Given the description of an element on the screen output the (x, y) to click on. 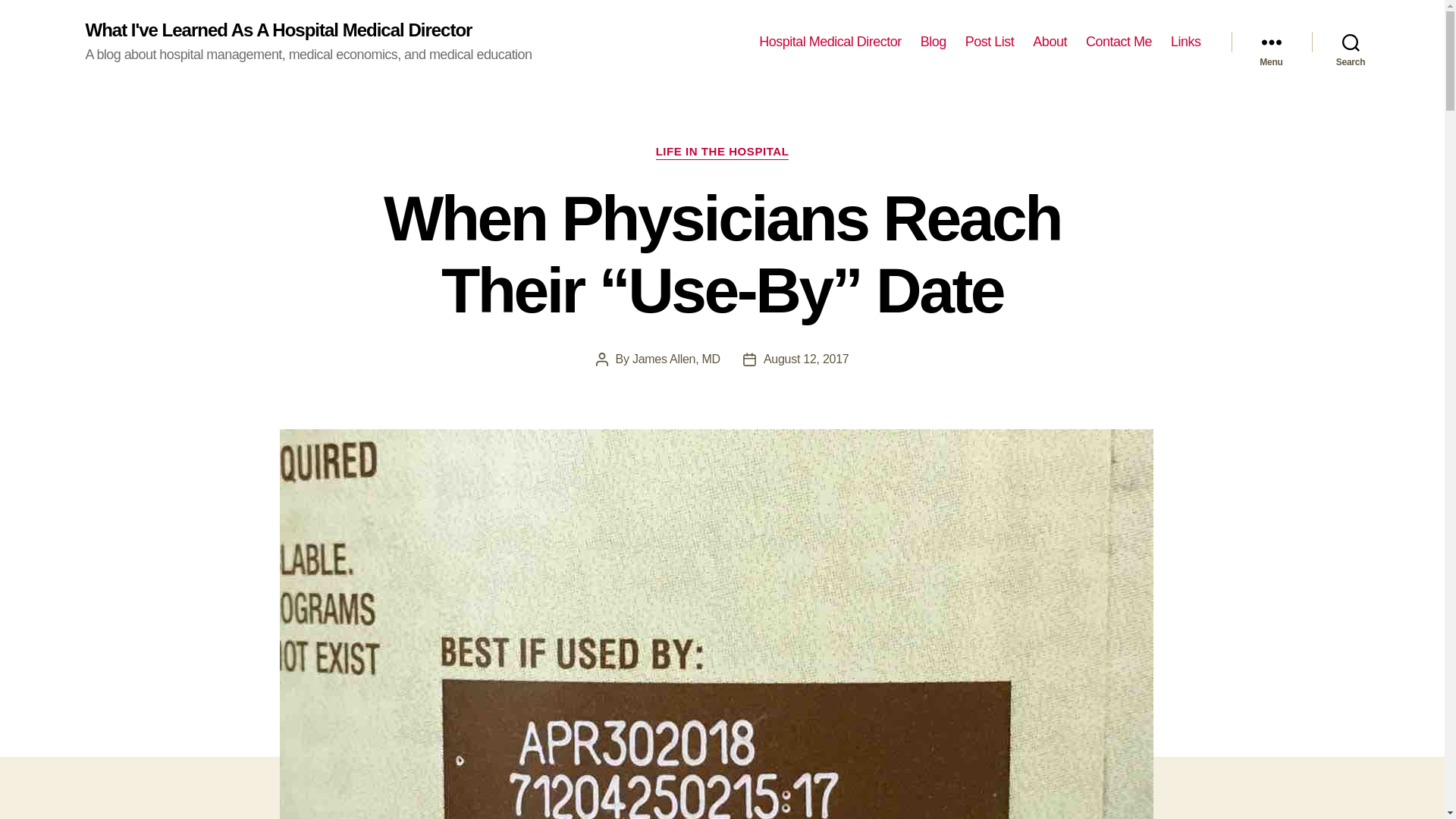
August 12, 2017 (805, 358)
James Allen, MD (675, 358)
Contact Me (1118, 42)
Post List (989, 42)
Links (1185, 42)
About (1049, 42)
What I've Learned As A Hospital Medical Director (277, 30)
LIFE IN THE HOSPITAL (722, 151)
Search (1350, 41)
Menu (1271, 41)
